Given the description of an element on the screen output the (x, y) to click on. 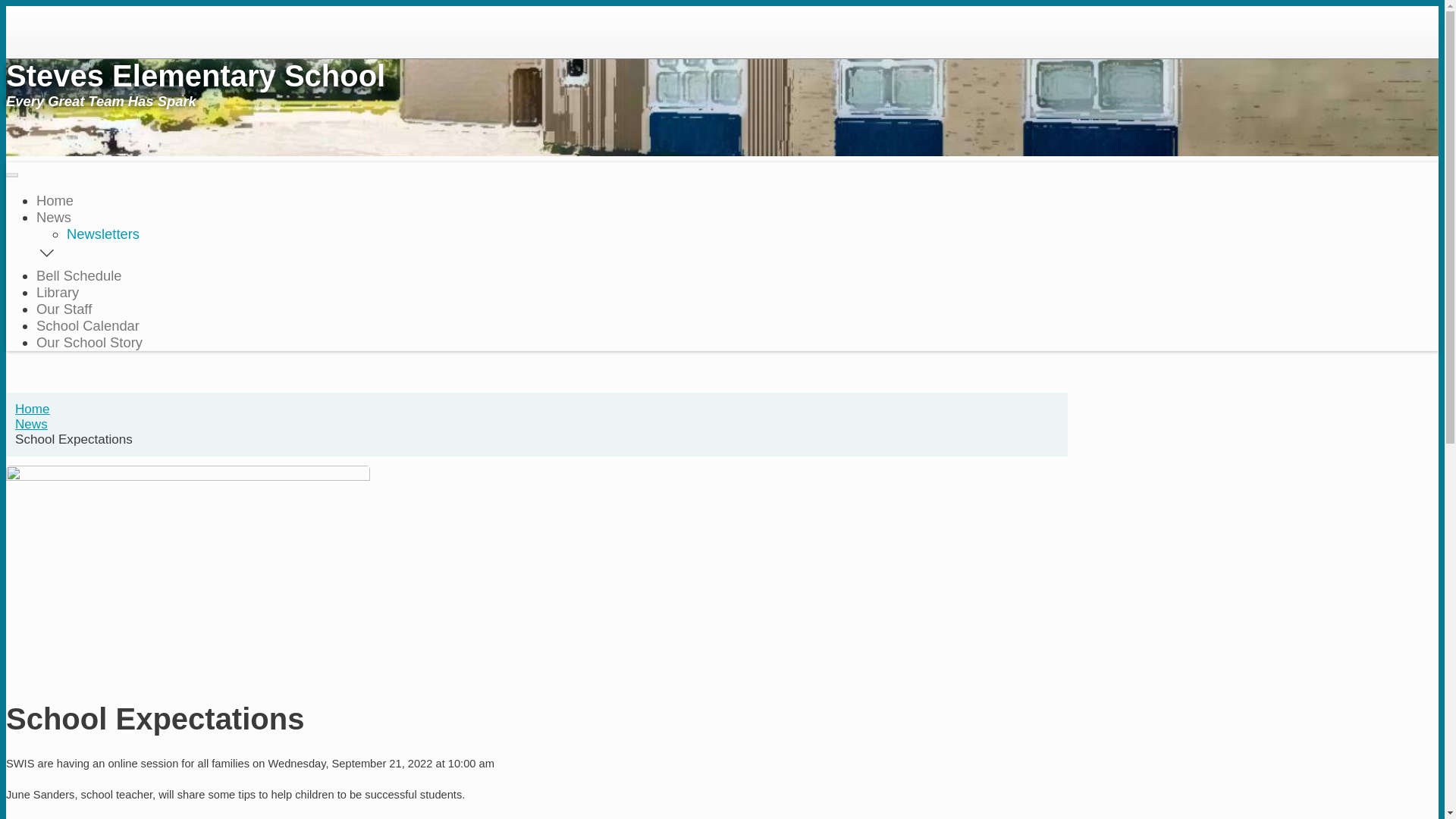
Home Element type: text (54, 200)
Our Staff Element type: text (63, 308)
Home Element type: text (32, 408)
News Element type: text (53, 217)
Skip to main content Element type: text (722, 7)
Bell Schedule Element type: text (78, 275)
School Calendar Element type: text (87, 325)
District Logo Element type: text (46, 18)
News Element type: text (31, 424)
Our School Story Element type: text (89, 342)
Library Element type: text (57, 292)
Steves Elementary School Element type: text (536, 84)
Newsletters Element type: text (102, 233)
school expectations.png Element type: hover (188, 668)
